Given the description of an element on the screen output the (x, y) to click on. 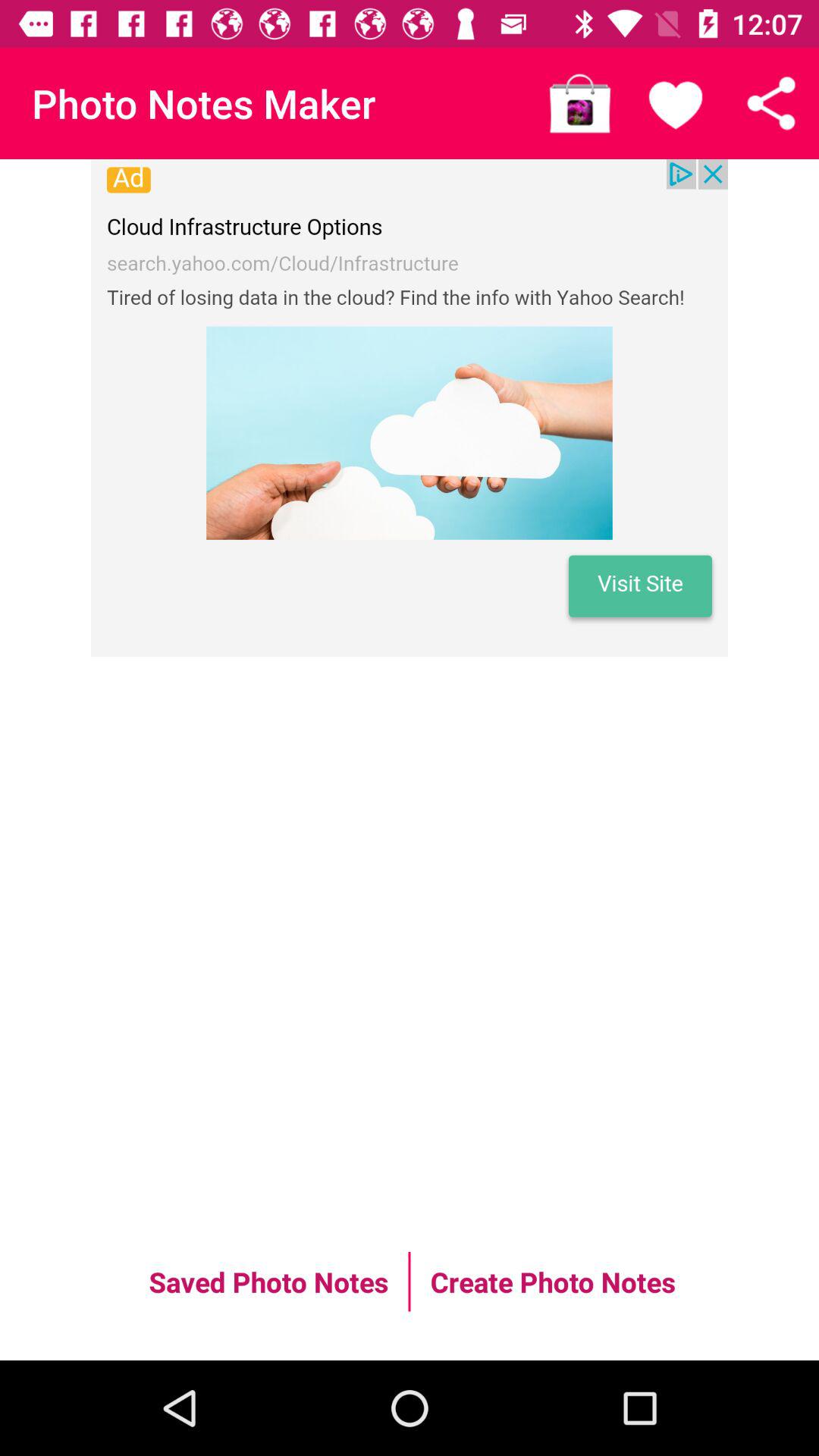
share the article (771, 103)
